Given the description of an element on the screen output the (x, y) to click on. 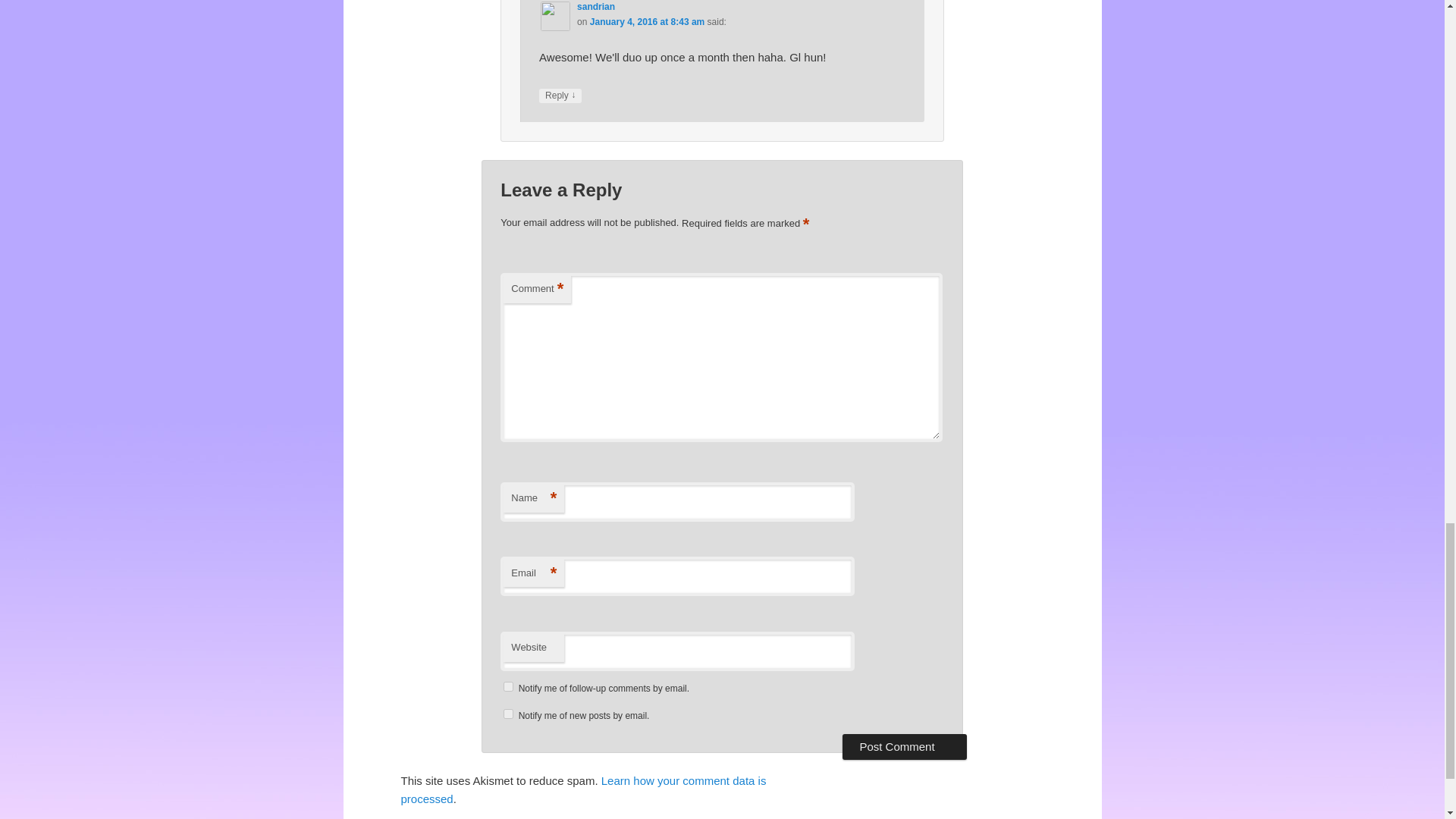
January 4, 2016 at 8:43 am (646, 21)
Learn how your comment data is processed (582, 789)
subscribe (508, 686)
sandrian (595, 6)
Post Comment (904, 746)
Post Comment (904, 746)
subscribe (508, 714)
